Given the description of an element on the screen output the (x, y) to click on. 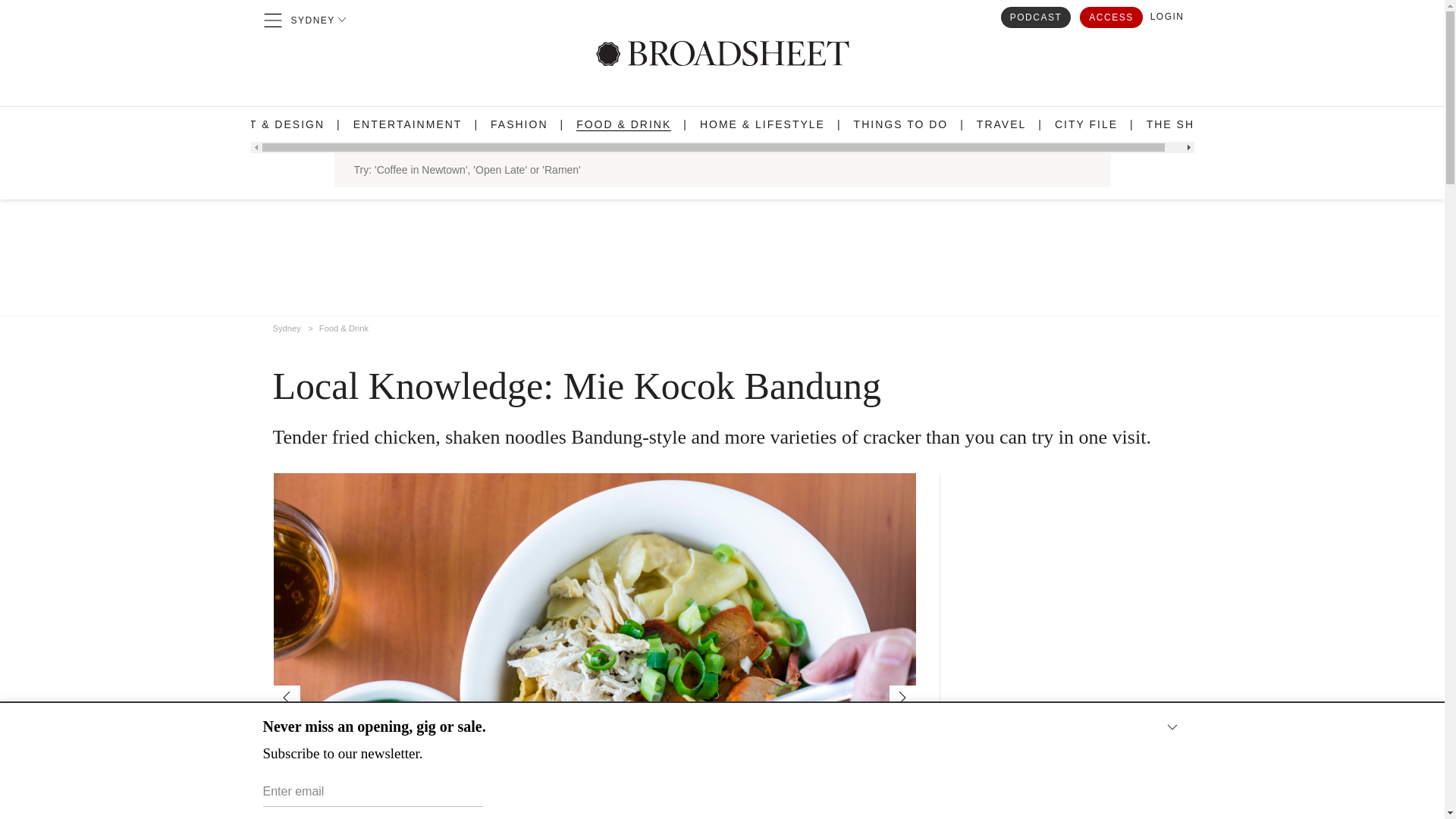
THE SHOP (1179, 124)
FASHION (518, 124)
THINGS TO DO (901, 124)
TRAVEL (1001, 124)
PODCAST (1036, 16)
ACCESS (1110, 16)
CITY FILE (1086, 124)
Sydney (287, 325)
ENTERTAINMENT (408, 124)
Broadsheet (721, 53)
